Given the description of an element on the screen output the (x, y) to click on. 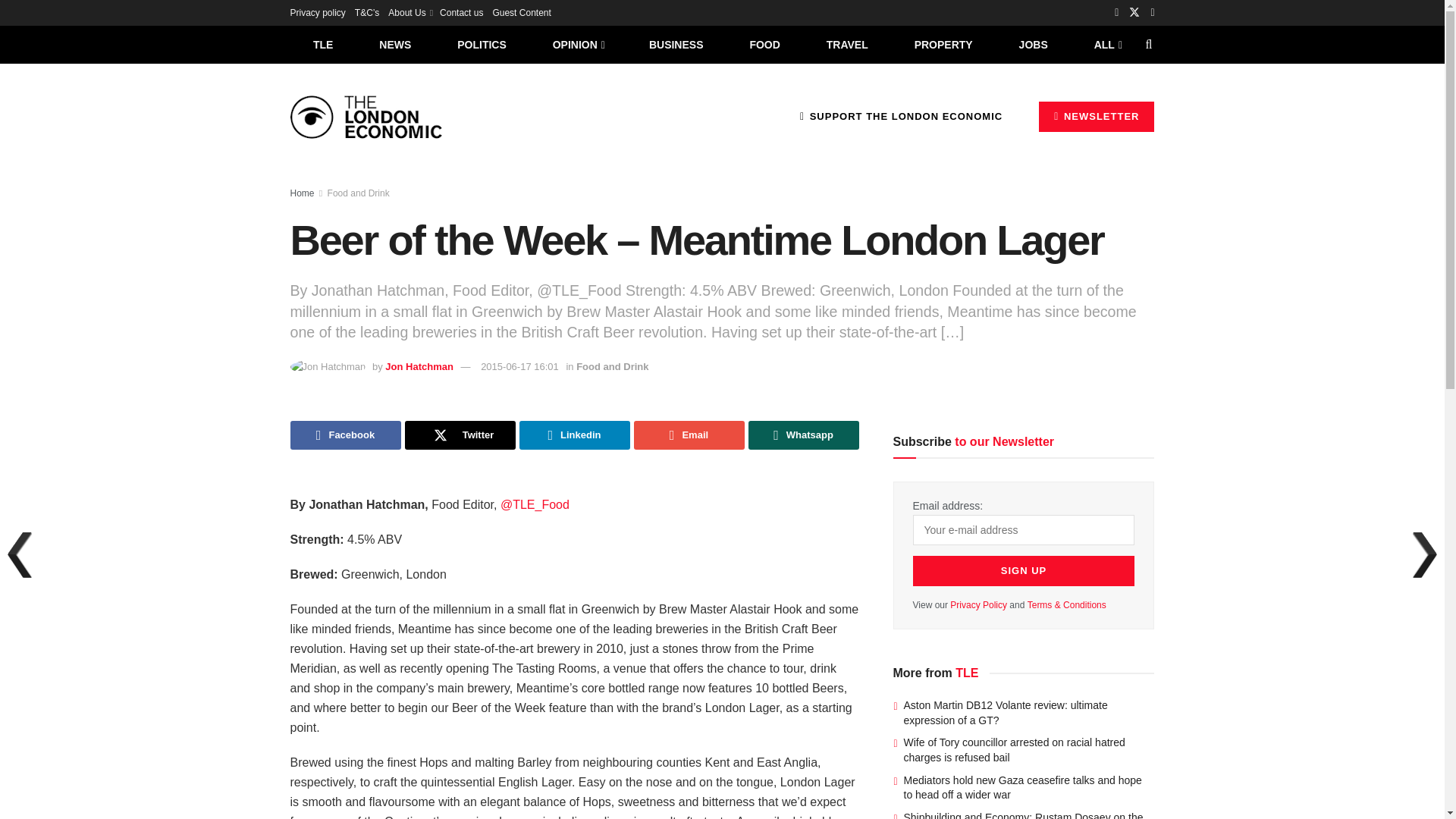
TLE (322, 44)
FOOD (764, 44)
Privacy policy (317, 12)
TRAVEL (847, 44)
About Us (409, 12)
BUSINESS (676, 44)
NEWSLETTER (1096, 116)
SUPPORT THE LONDON ECONOMIC (900, 116)
Guest Content (521, 12)
JOBS (1032, 44)
